Given the description of an element on the screen output the (x, y) to click on. 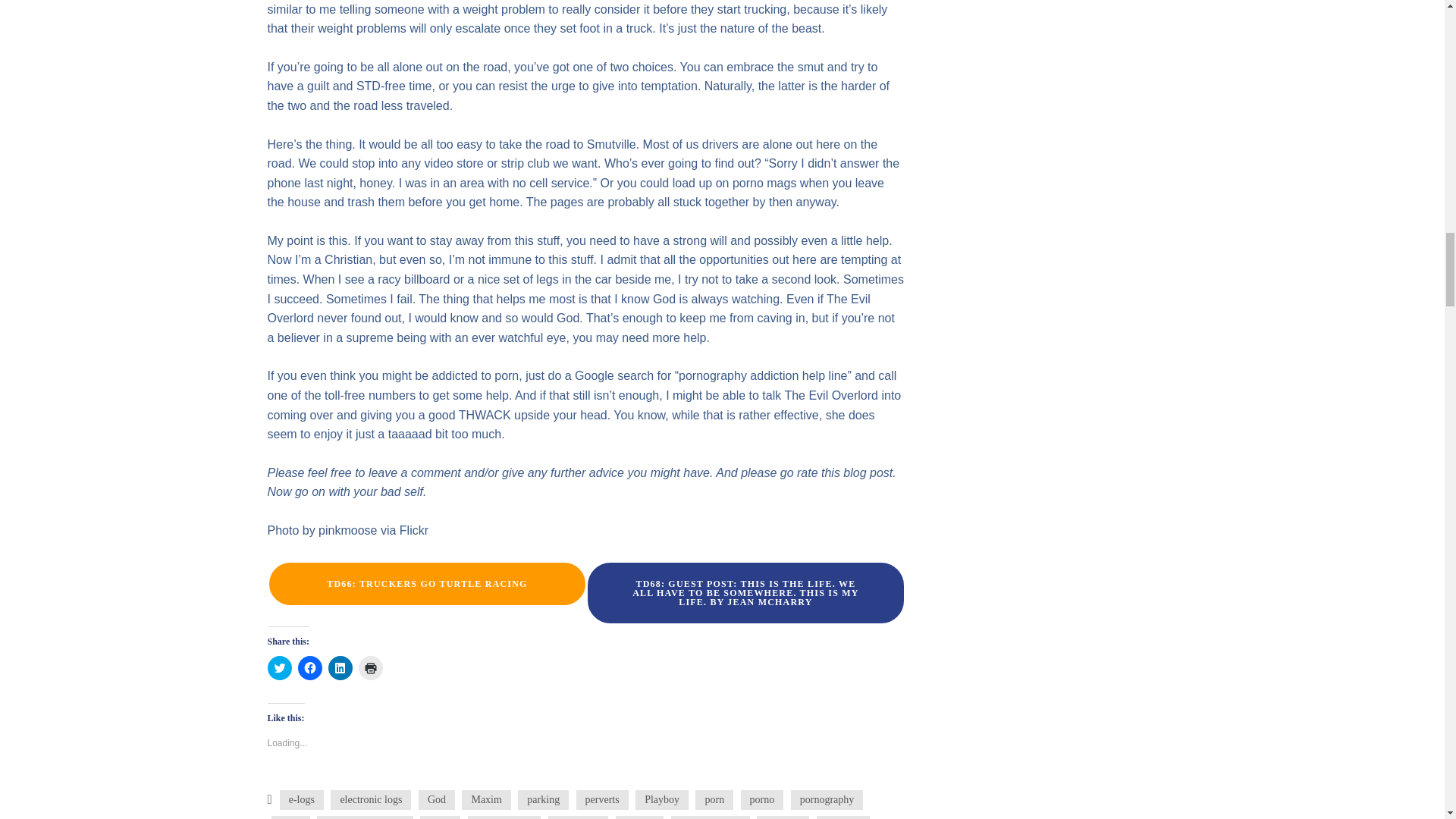
Click to share on Facebook (309, 668)
Click to share on Twitter (278, 668)
Click to print (369, 668)
TD66: Truckers Go Turtle Racing (426, 582)
Click to share on LinkedIn (339, 668)
